Given the description of an element on the screen output the (x, y) to click on. 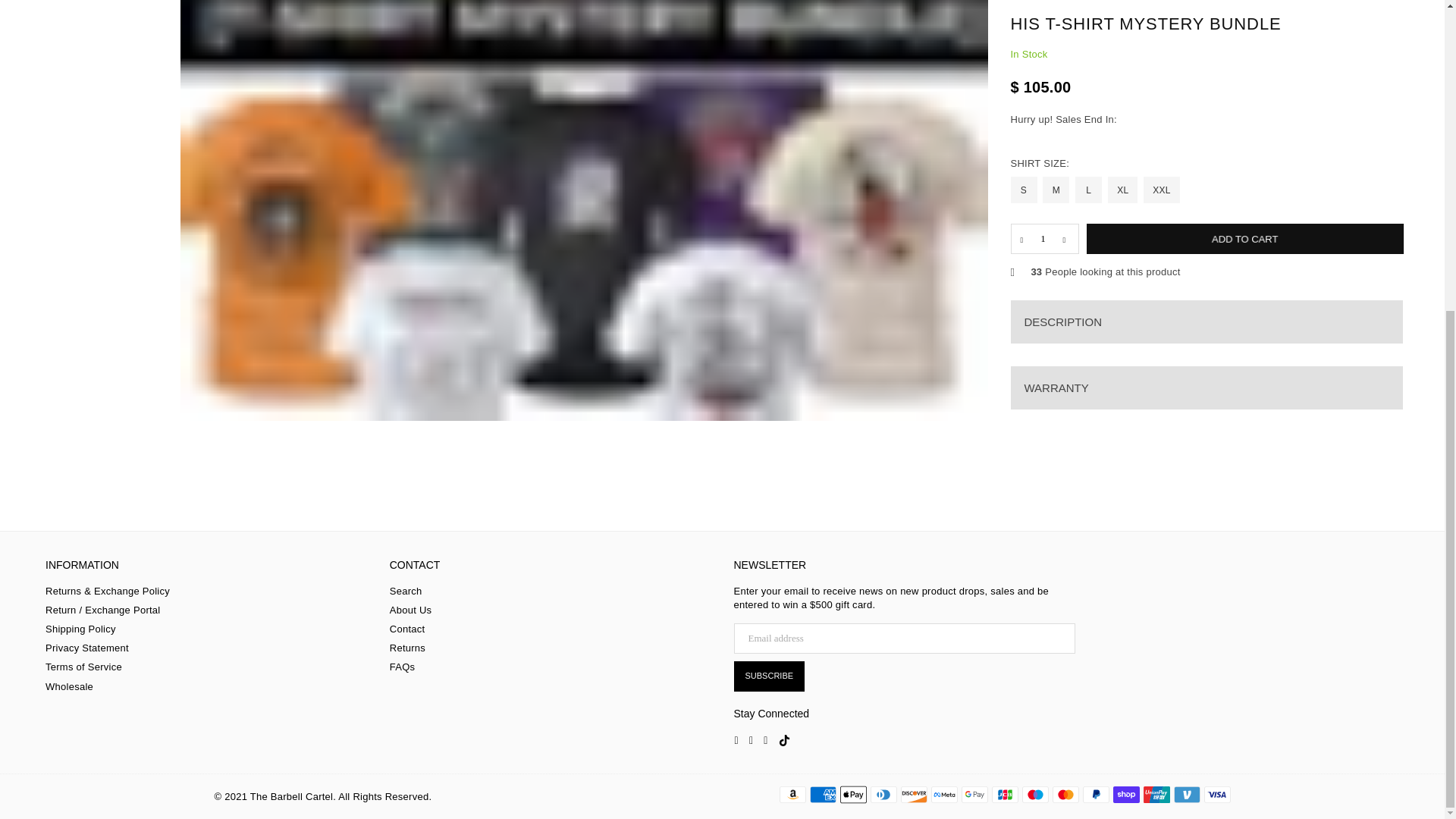
The Barbell Cartel on Pinterest (751, 739)
Diners Club (883, 794)
The Barbell Cartel on TikTok (783, 739)
Maestro (1035, 794)
Apple Pay (853, 794)
Shop Pay (1126, 794)
Amazon (792, 794)
The Barbell Cartel on Facebook (736, 739)
Union Pay (1156, 794)
JCB (1004, 794)
